Given the description of an element on the screen output the (x, y) to click on. 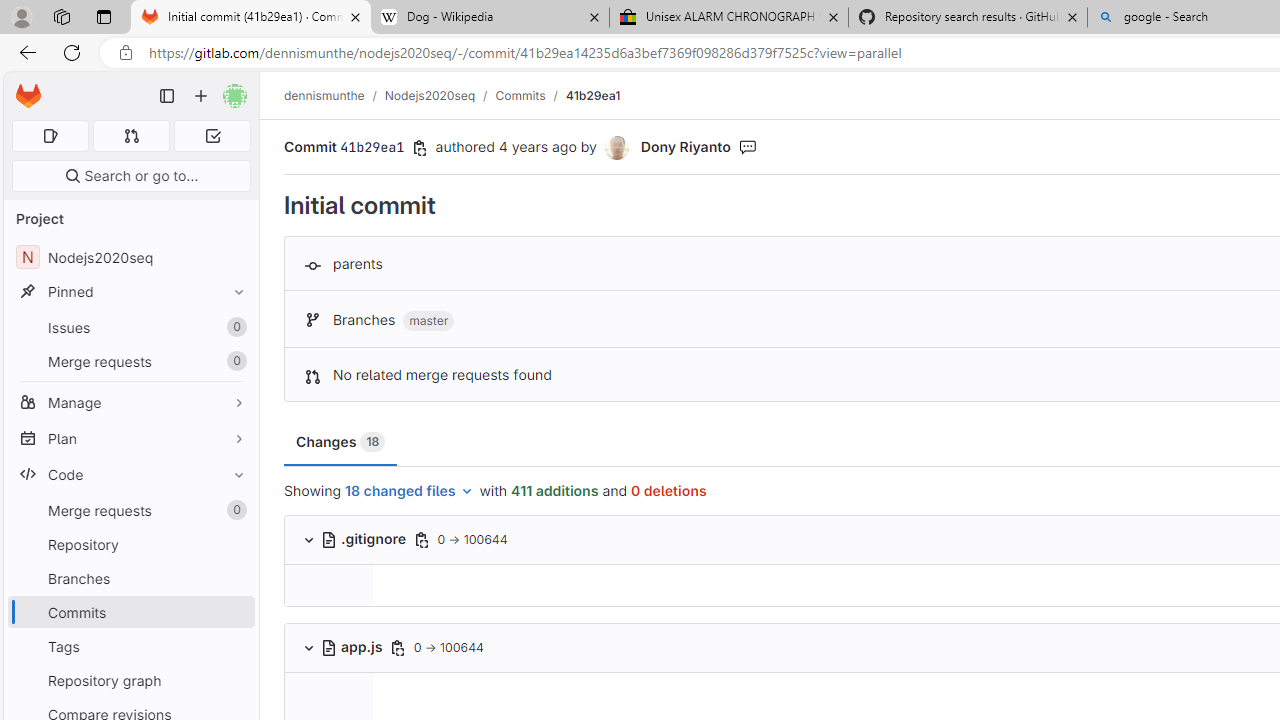
Plan (130, 438)
Copy file path (397, 647)
Dony Riyanto's avatar (616, 148)
Nodejs2020seq/ (440, 95)
Repository graph (130, 679)
Code (130, 474)
Branches (130, 578)
Pin Tags (234, 646)
Primary navigation sidebar (167, 96)
Changes 18 (341, 442)
Copy commit SHA (419, 148)
master (428, 321)
Merge requests0 (130, 510)
Class: s16 chevron-down (308, 647)
Class: s16 gl-icon gl-button-icon  (397, 647)
